Given the description of an element on the screen output the (x, y) to click on. 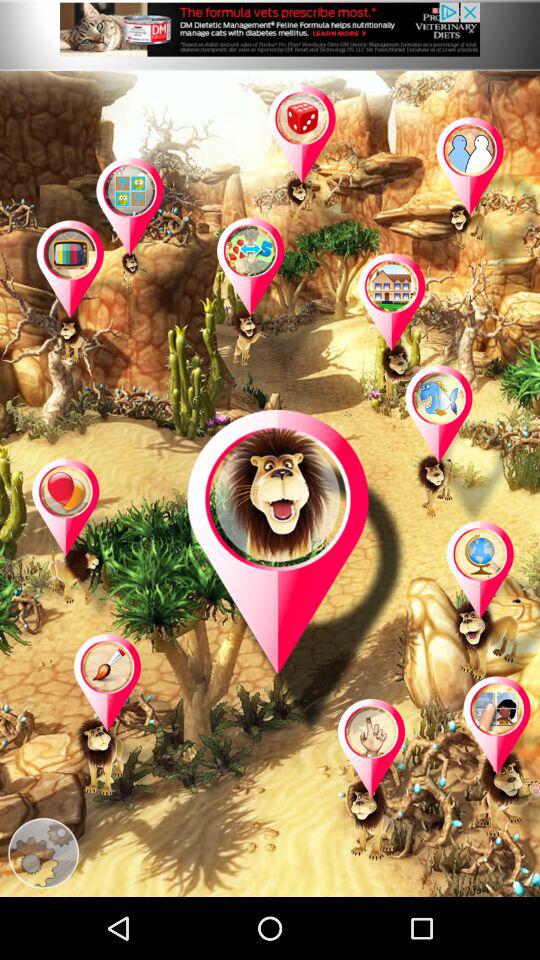
talk to luis lion (297, 573)
